Given the description of an element on the screen output the (x, y) to click on. 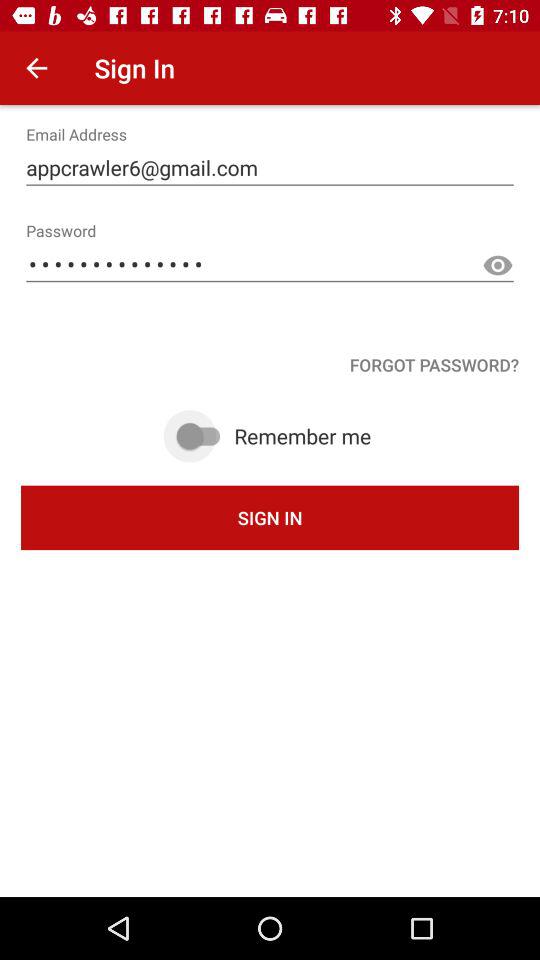
switch autoplay option (201, 436)
